Given the description of an element on the screen output the (x, y) to click on. 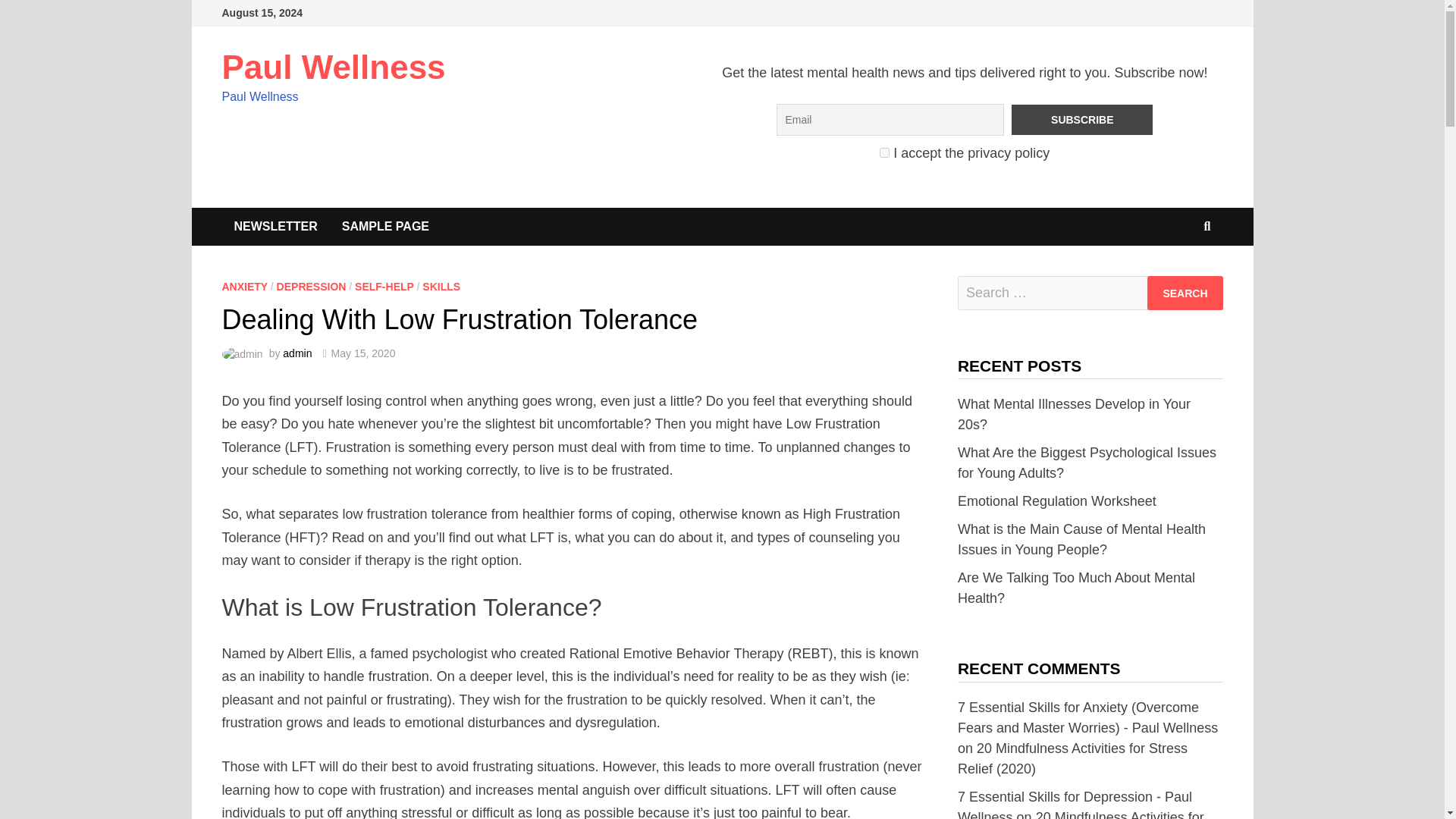
What Are the Biggest Psychological Issues for Young Adults? (1086, 462)
Search (1185, 293)
Search (1185, 293)
Subscribe (1082, 119)
SKILLS (441, 286)
Emotional Regulation Worksheet (1057, 500)
Subscribe (1082, 119)
on (884, 153)
May 15, 2020 (363, 353)
ANXIETY (243, 286)
